Given the description of an element on the screen output the (x, y) to click on. 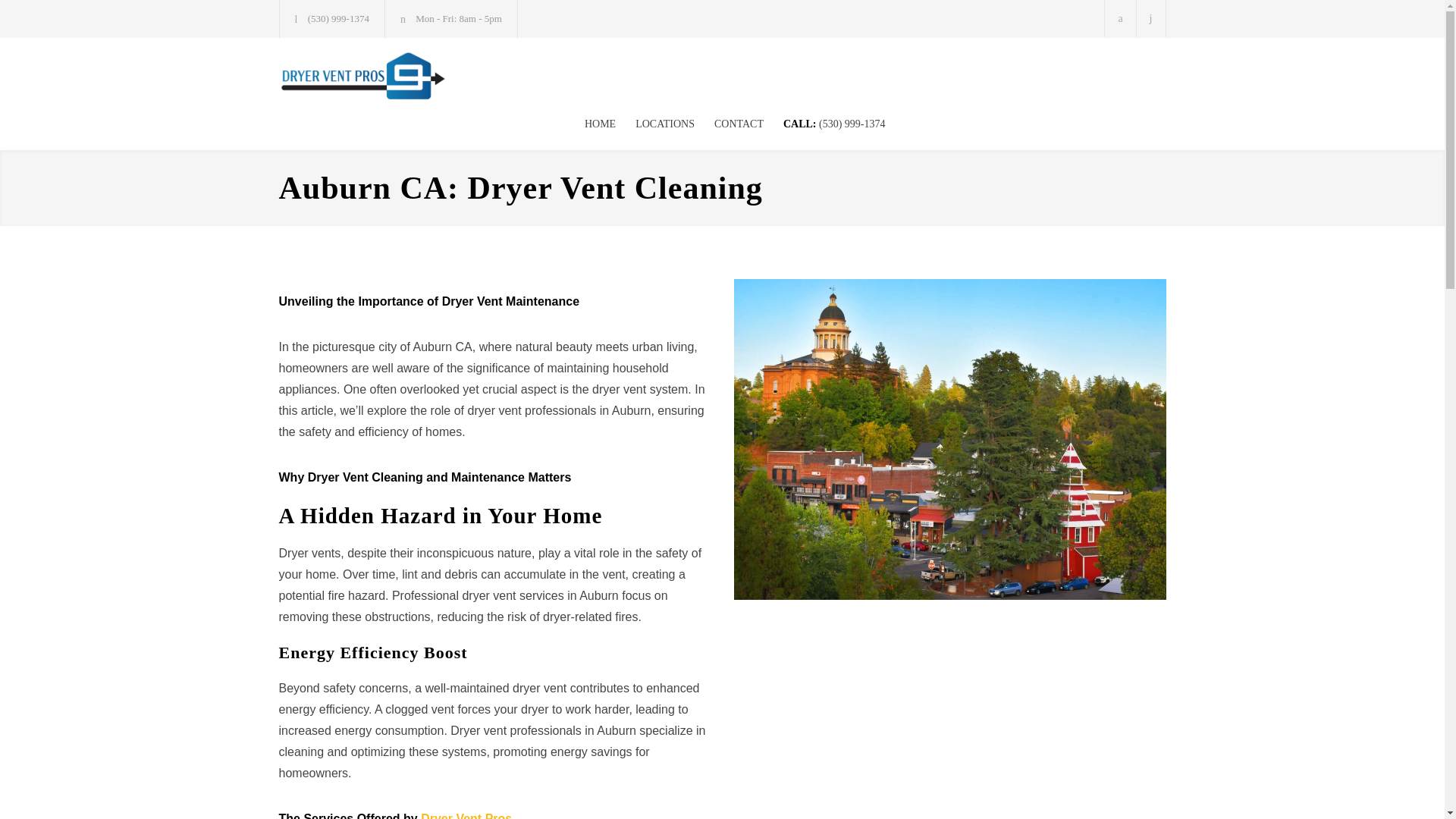
Renovate (419, 75)
LOCATIONS (654, 124)
CONTACT (728, 124)
Dryer Vent Pros (466, 815)
